Given the description of an element on the screen output the (x, y) to click on. 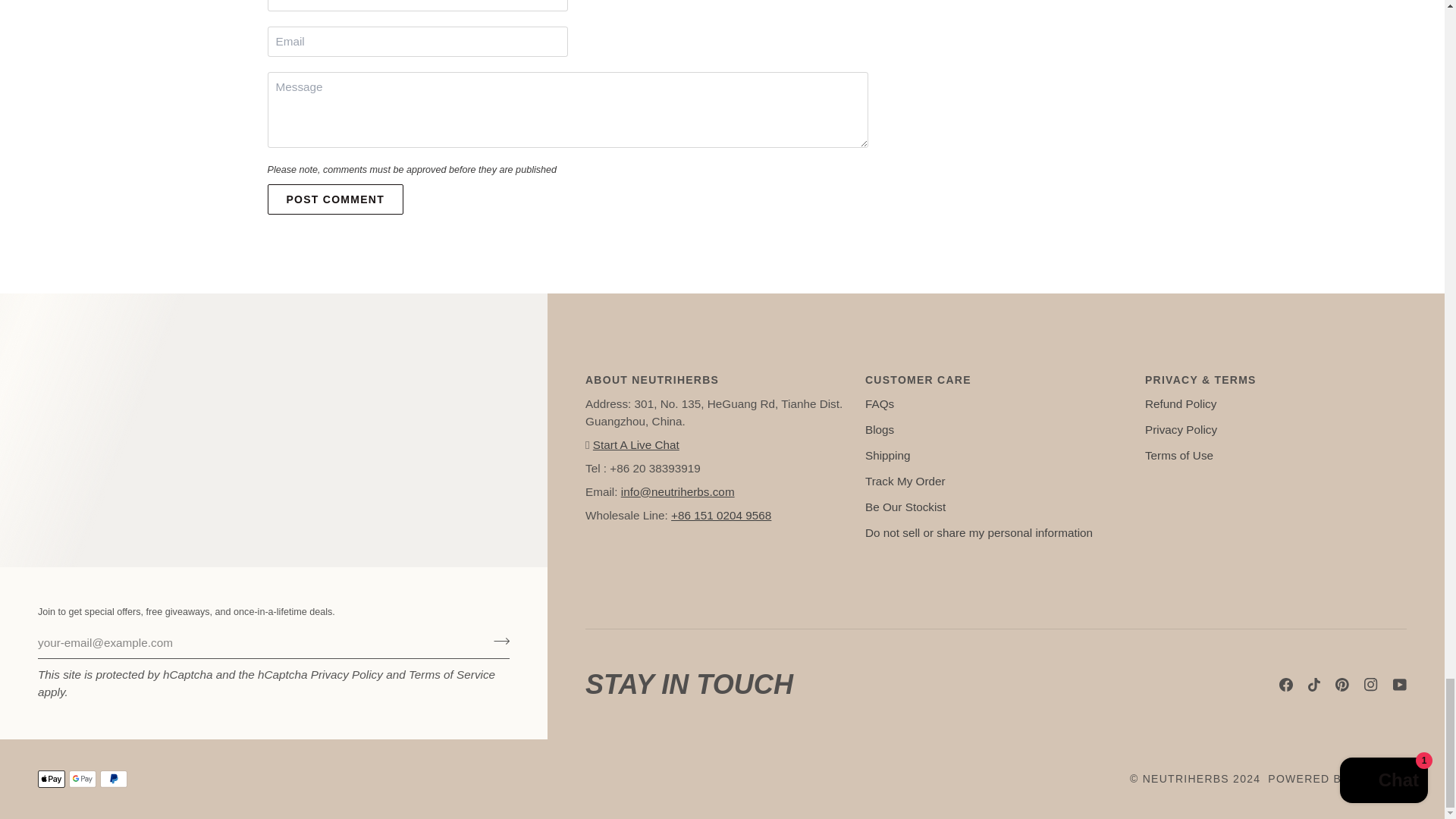
PAYPAL (114, 778)
Instagram (1370, 684)
APPLE PAY (51, 778)
Tiktok (1313, 684)
YouTube (1399, 684)
Pinterest (1342, 684)
Facebook (1285, 684)
GOOGLE PAY (82, 778)
